Given the description of an element on the screen output the (x, y) to click on. 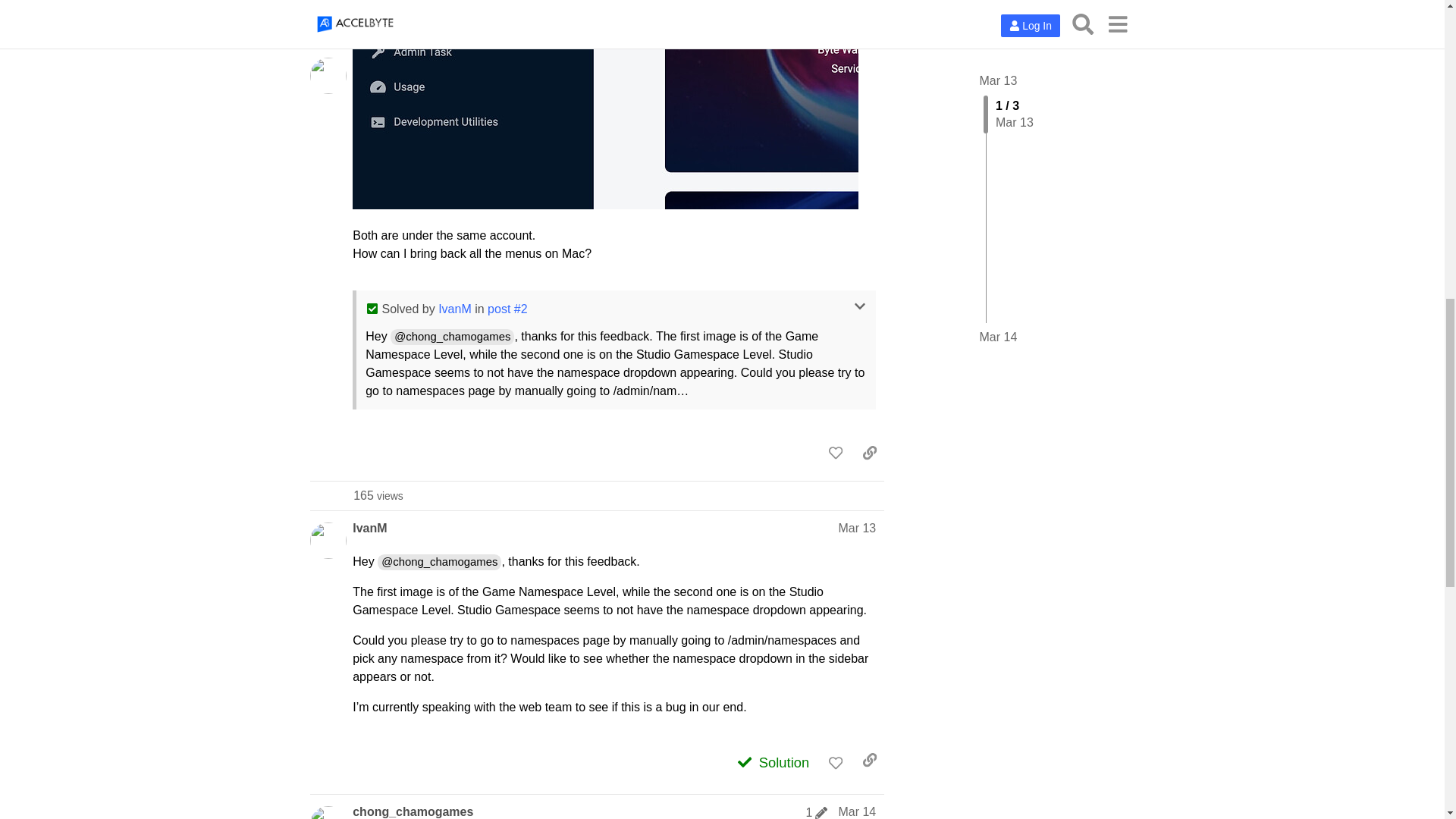
IvanM (369, 528)
Mar 14 (377, 495)
Mar 13 (857, 811)
copy a link to this post to clipboard (857, 527)
1 (869, 452)
like this post (817, 812)
image (835, 761)
IvanM (605, 104)
This is the accepted solution to this topic (454, 308)
